Given the description of an element on the screen output the (x, y) to click on. 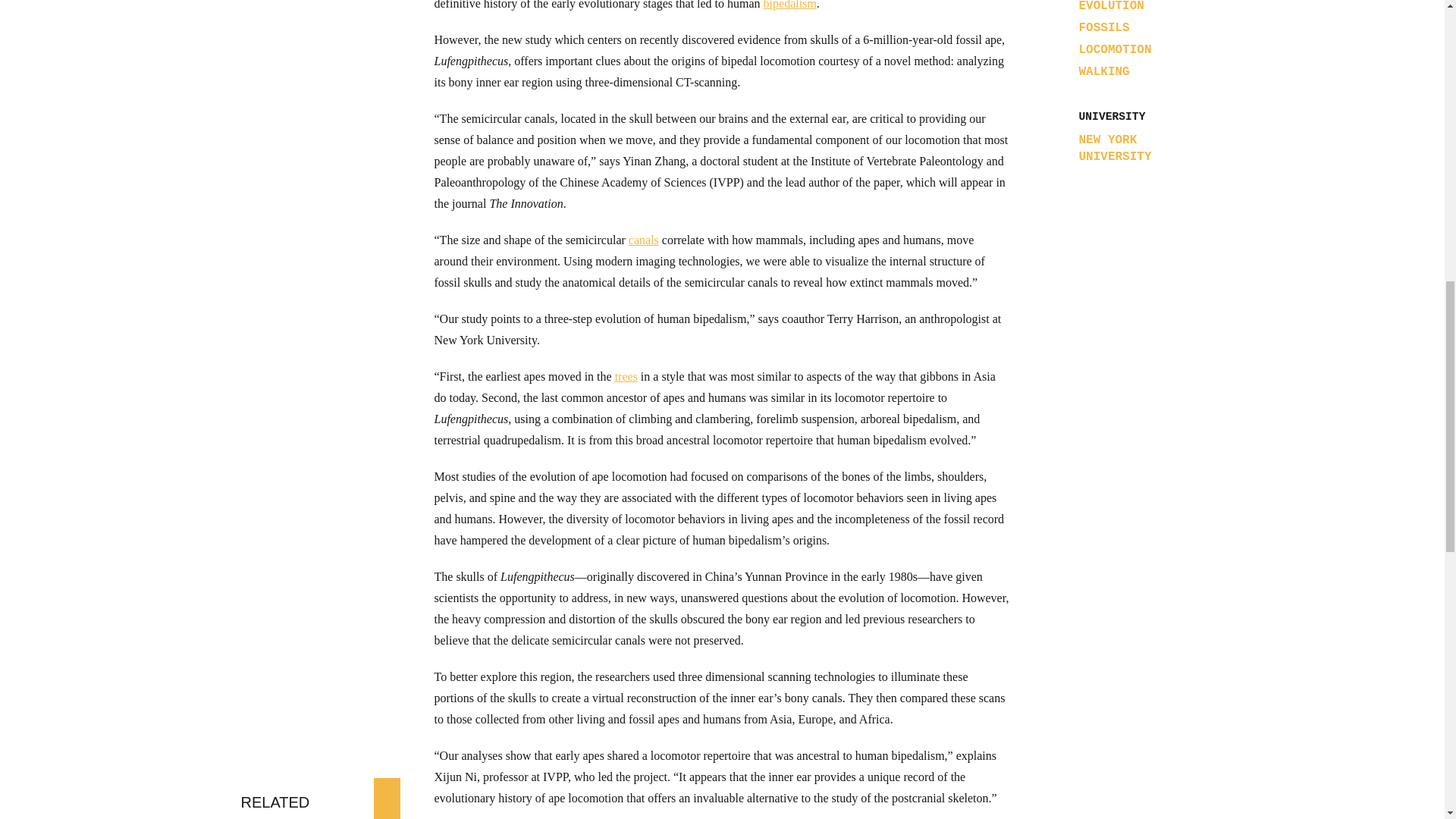
WALKING (1103, 71)
NEW YORK UNIVERSITY (1135, 148)
EVOLUTION (1110, 6)
LOCOMOTION (1114, 49)
FOSSILS (1103, 28)
